Given the description of an element on the screen output the (x, y) to click on. 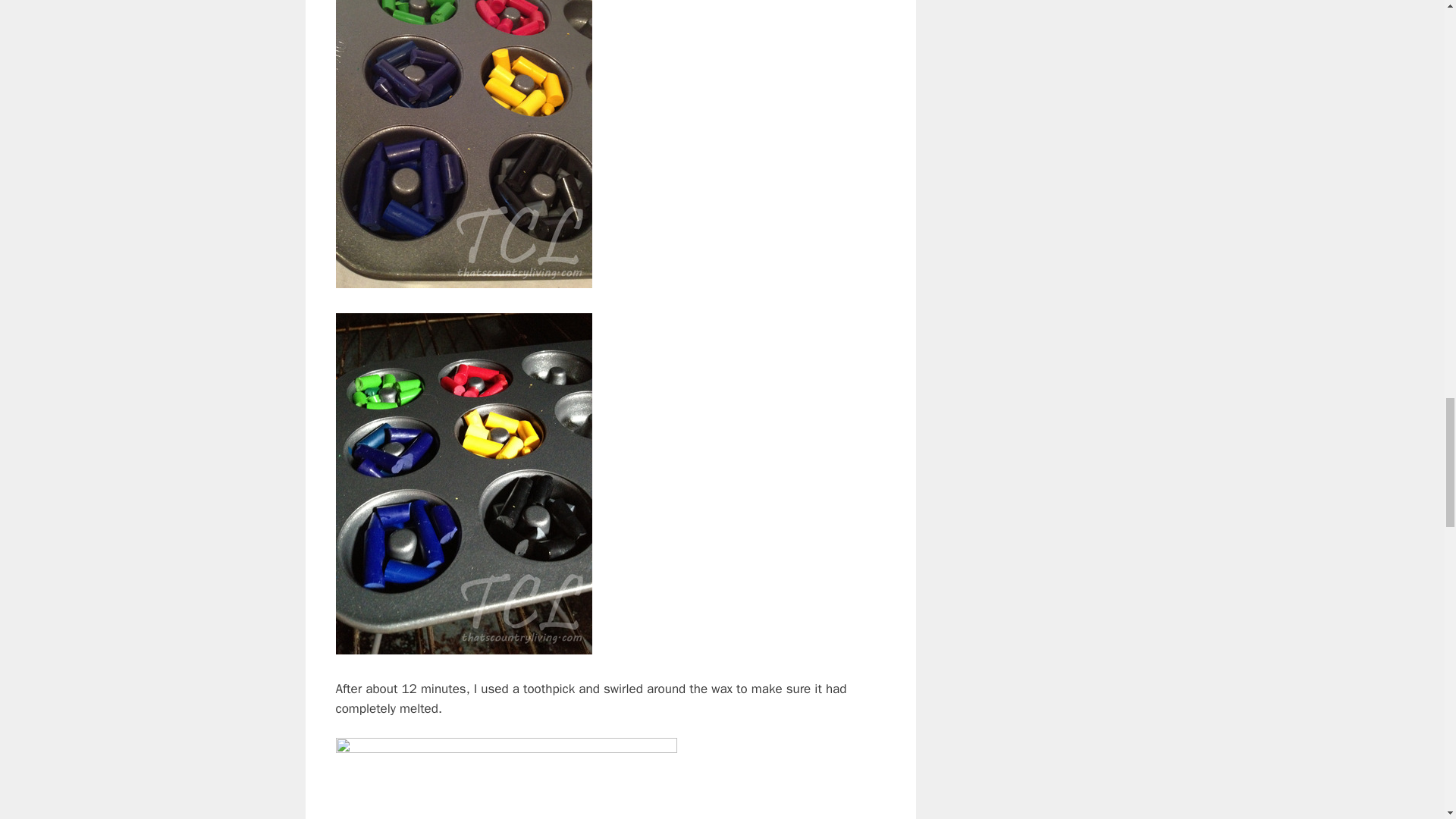
melting crayons 1 TCL (462, 144)
melted crayons TCL (505, 778)
